Given the description of an element on the screen output the (x, y) to click on. 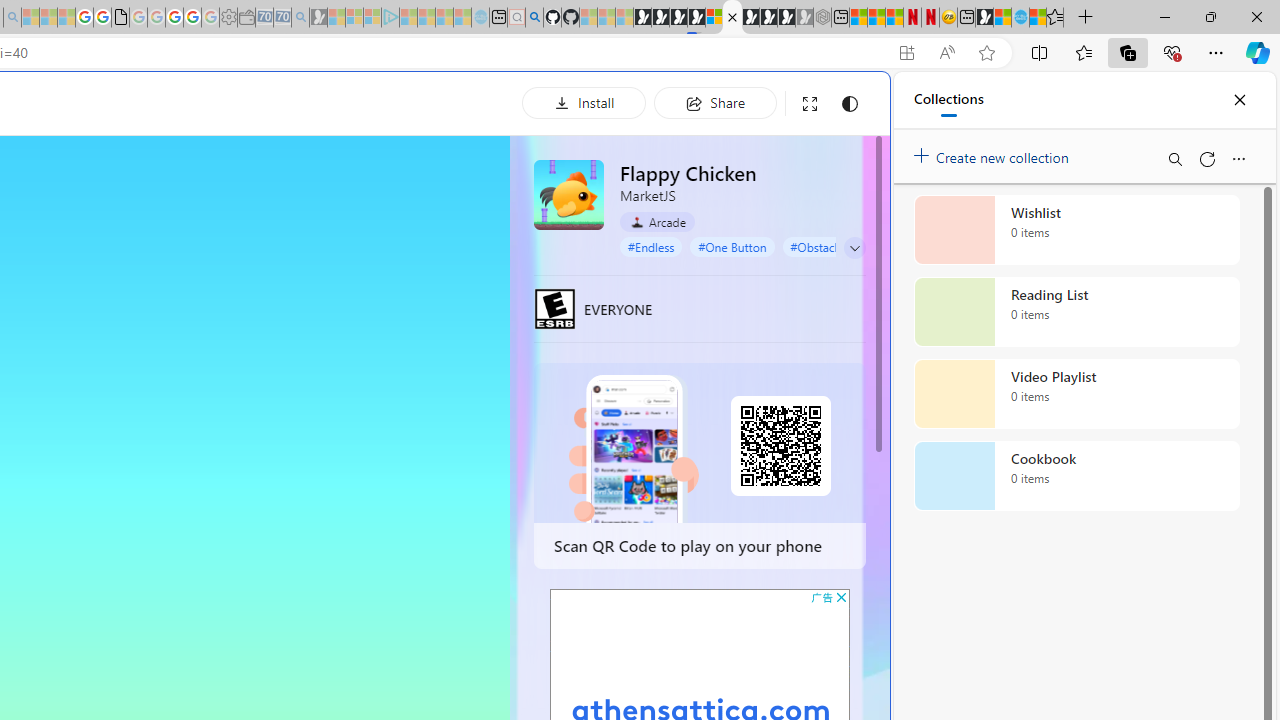
Tabs you've opened (276, 265)
Arcade (657, 222)
App available. Install Flappy Chicken (906, 53)
Class: control (855, 248)
Reading List collection, 0 items (1076, 312)
Services - Maintenance | Sky Blue Bikes - Sky Blue Bikes (1020, 17)
#One Button (731, 246)
